Given the description of an element on the screen output the (x, y) to click on. 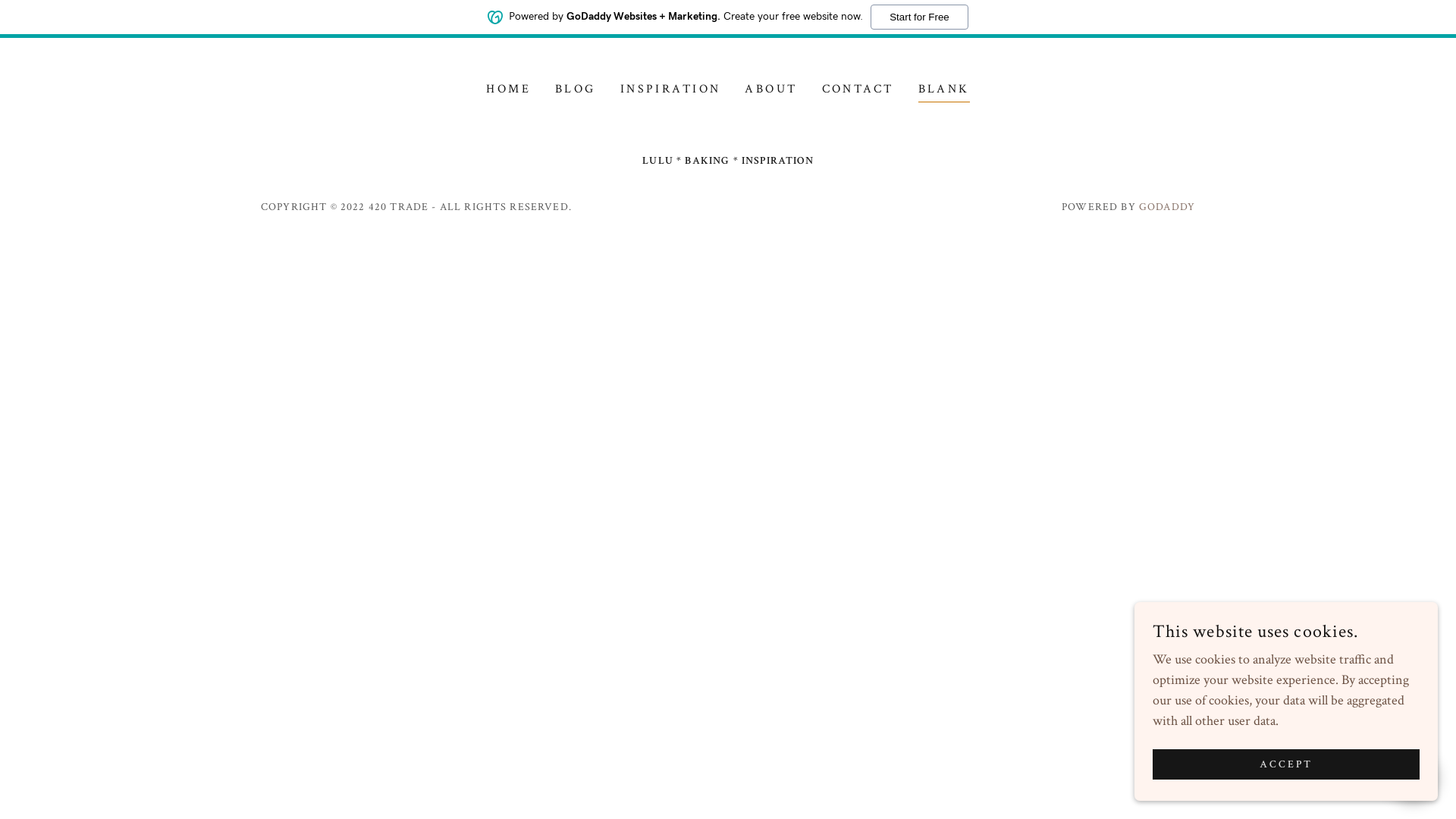
GODADDY Element type: text (1167, 206)
BLANK Element type: text (943, 91)
ACCEPT Element type: text (1285, 764)
INSPIRATION Element type: text (670, 89)
ABOUT Element type: text (770, 89)
BLOG Element type: text (575, 89)
Start for Free Element type: text (919, 16)
CONTACT Element type: text (857, 89)
HOME Element type: text (508, 89)
